Given the description of an element on the screen output the (x, y) to click on. 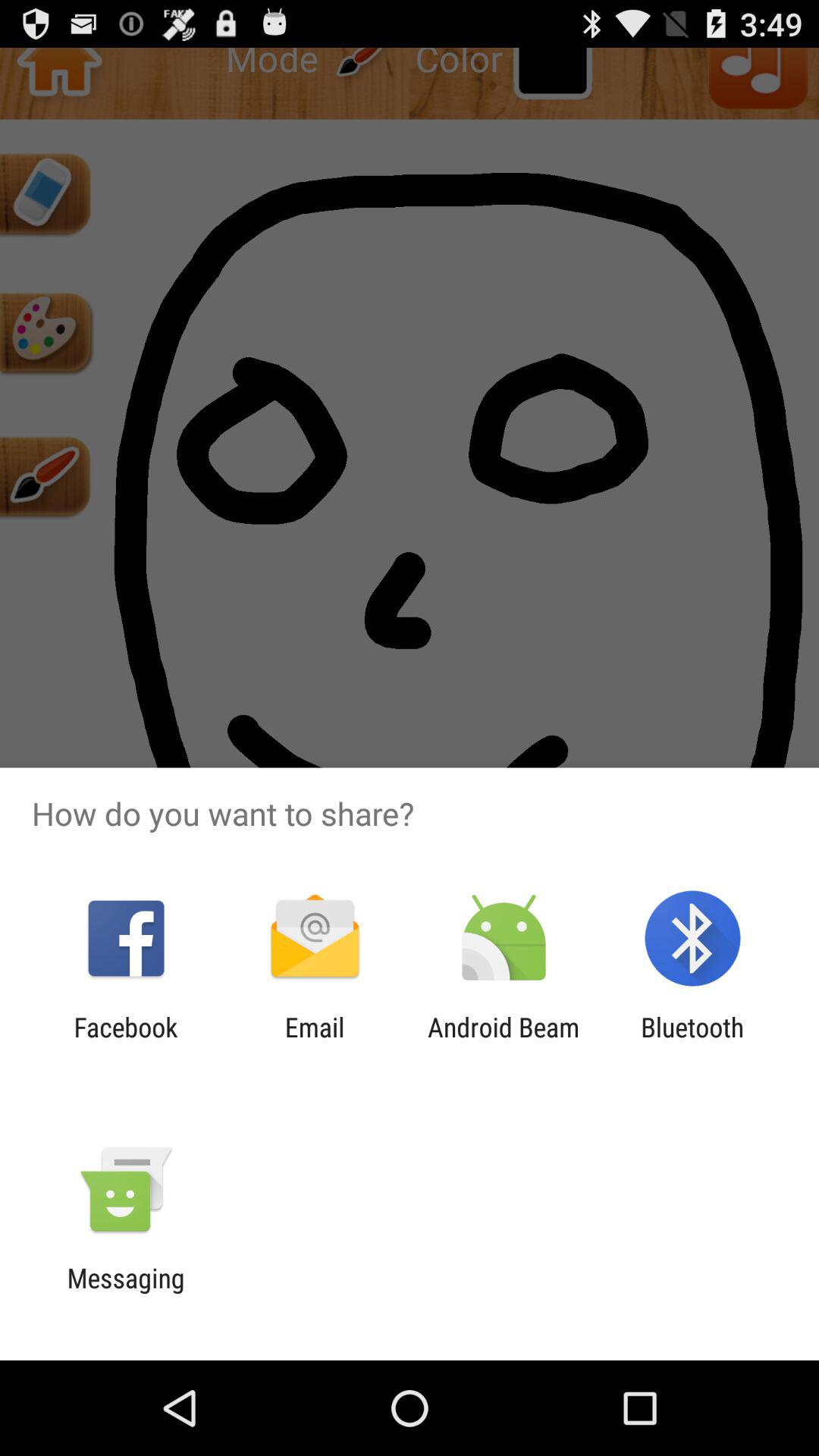
turn off the email app (314, 1042)
